Given the description of an element on the screen output the (x, y) to click on. 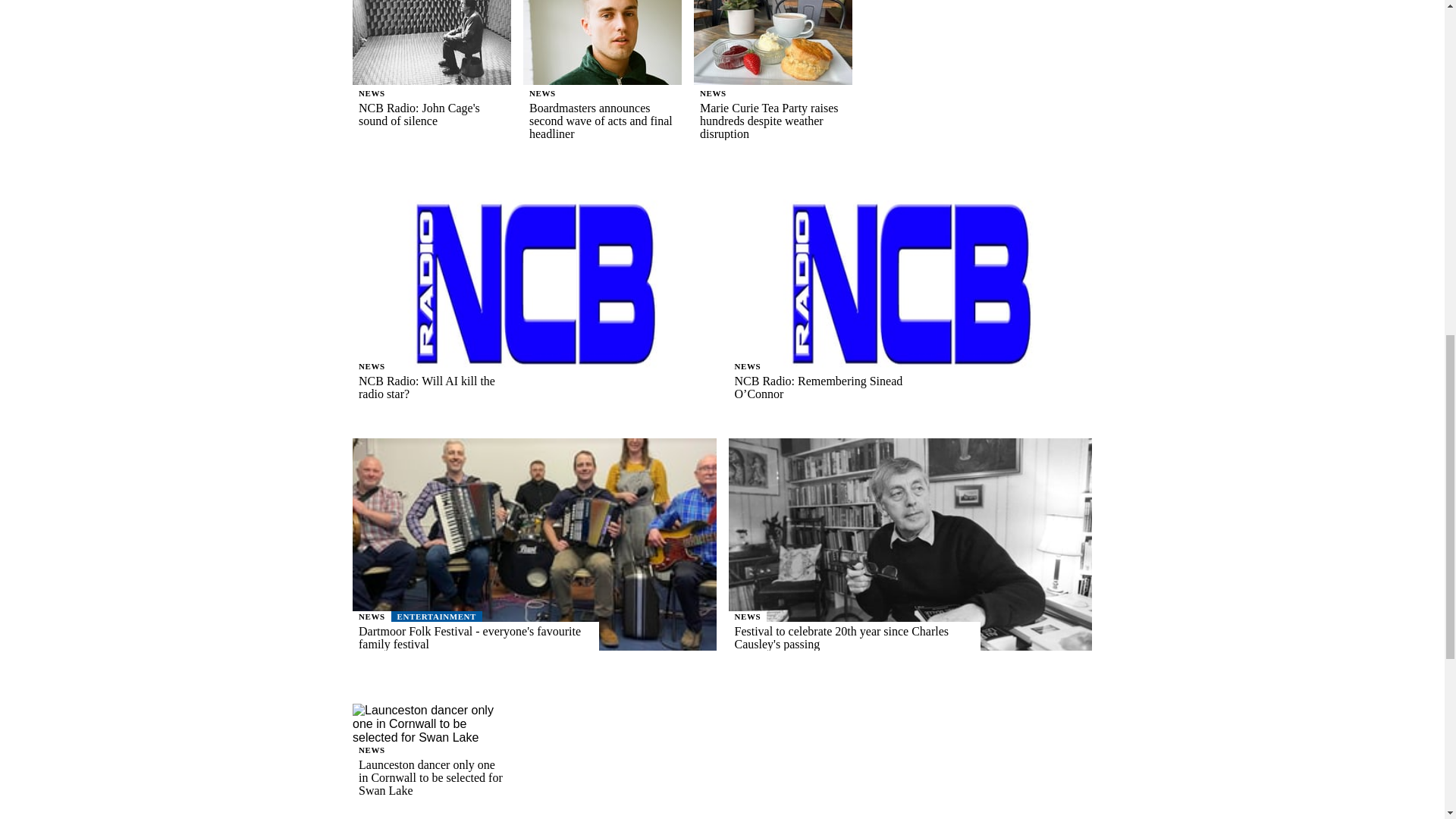
NEWS (713, 92)
NCB Radio: John Cage's sound of silence (431, 114)
NEWS (542, 92)
NEWS (371, 92)
